Given the description of an element on the screen output the (x, y) to click on. 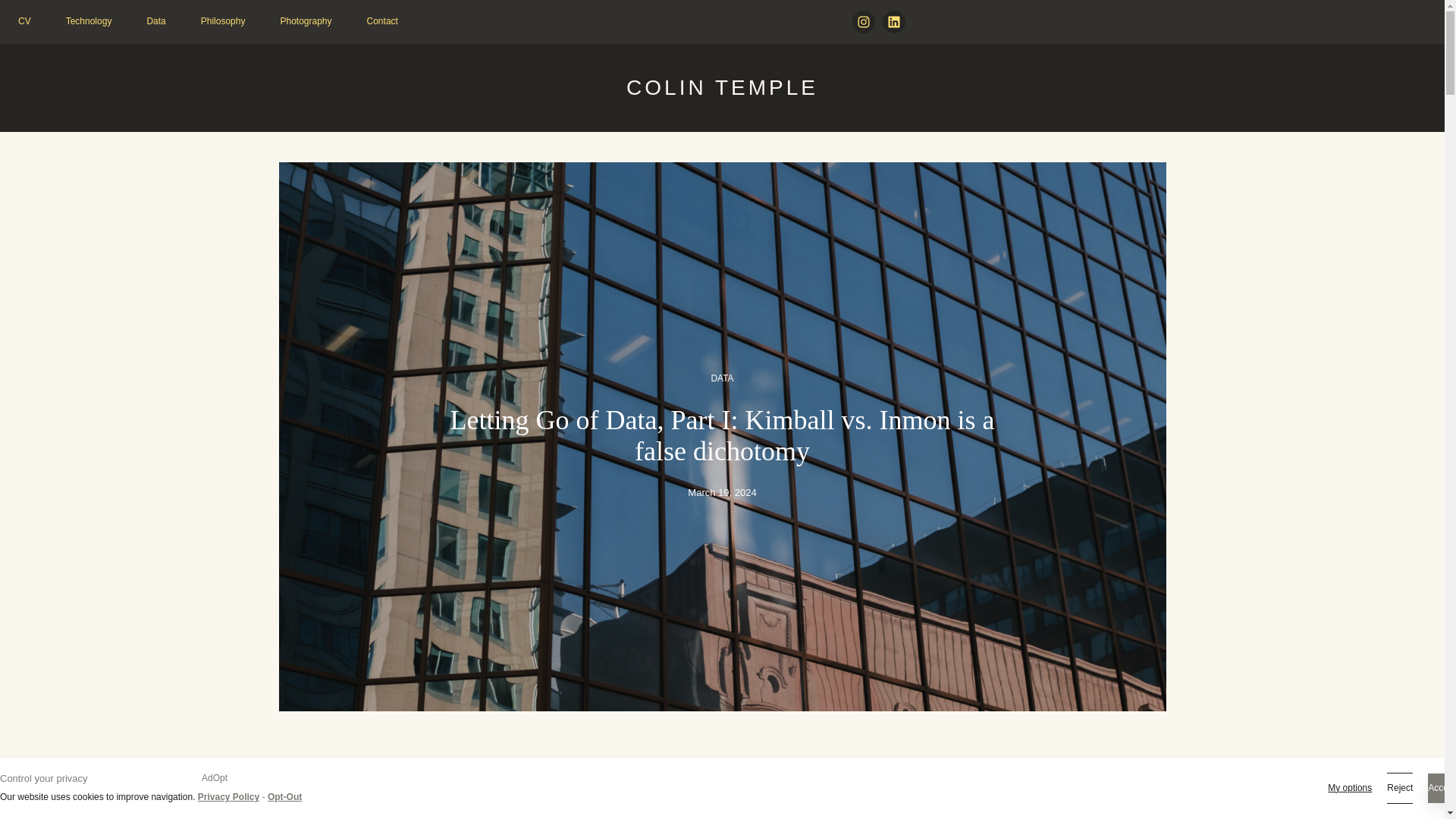
Instagram (863, 21)
Data (156, 21)
Photography (305, 21)
Technology (88, 21)
CV (23, 21)
LinkedIn (893, 21)
Philosophy (223, 21)
COLIN TEMPLE (722, 87)
DATA (721, 378)
Contact (381, 21)
